Given the description of an element on the screen output the (x, y) to click on. 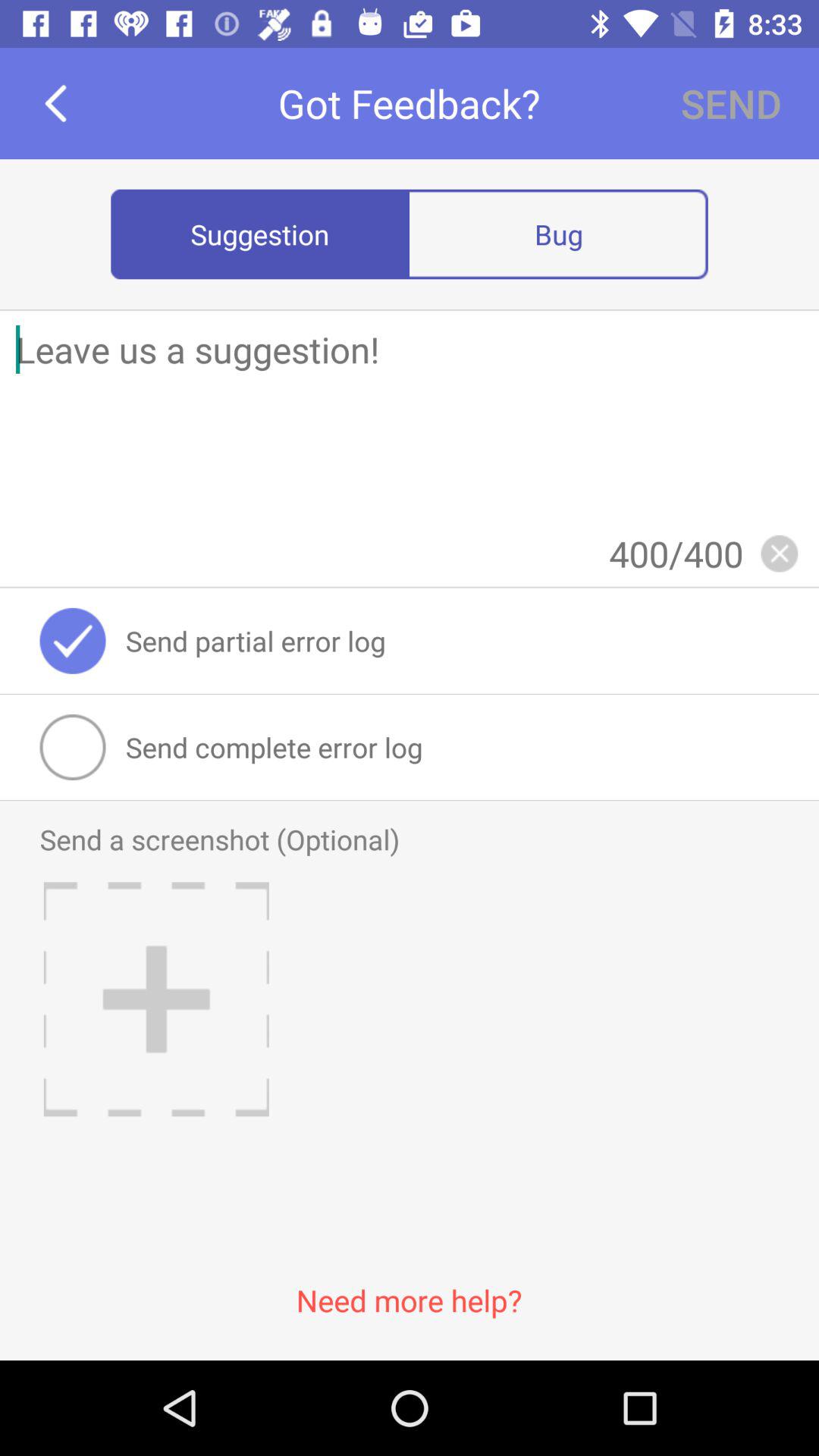
tap the item next to send partial error (72, 640)
